Given the description of an element on the screen output the (x, y) to click on. 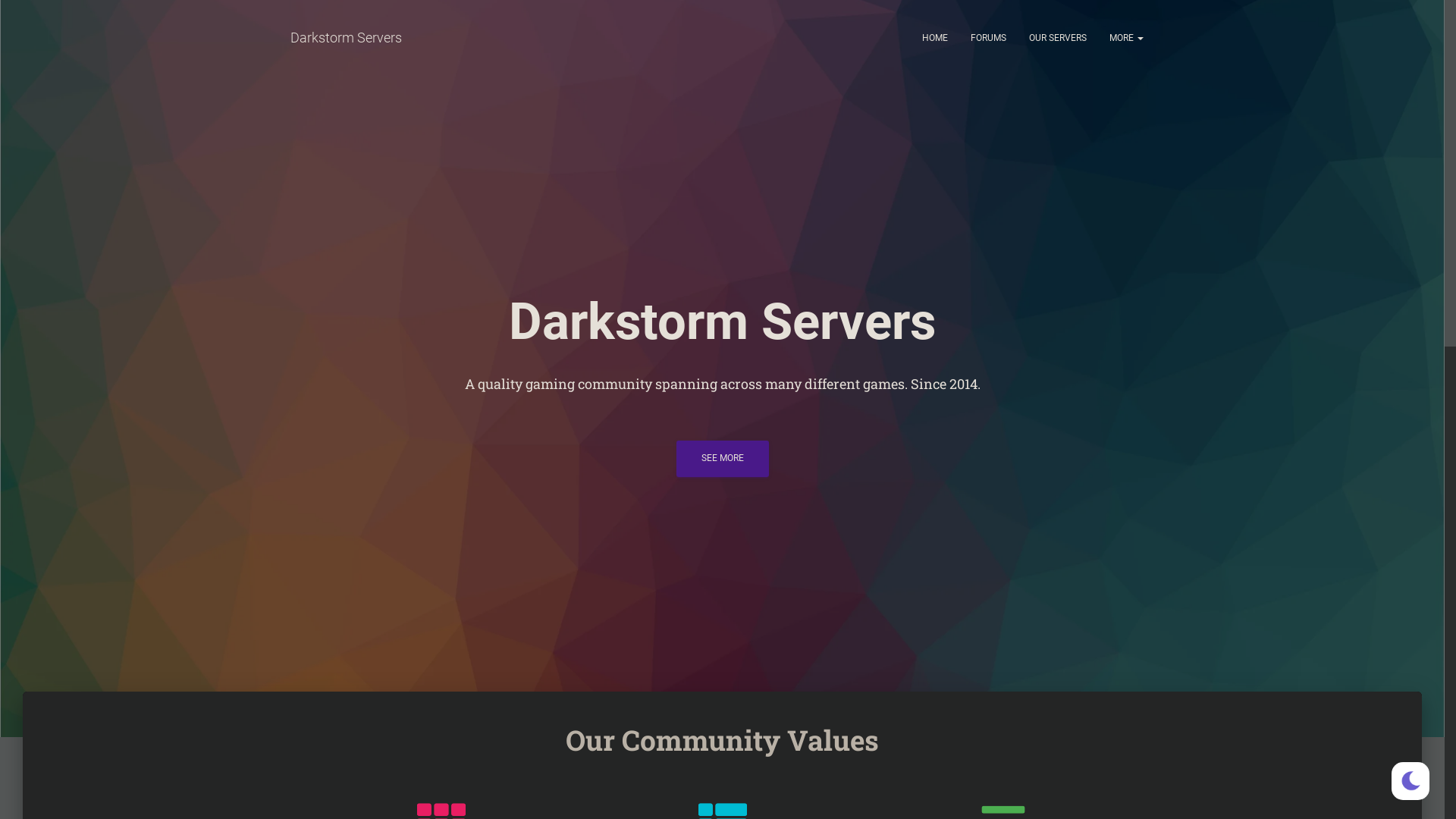
Darkstorm Servers Element type: text (346, 37)
HOME Element type: text (934, 37)
OUR SERVERS Element type: text (1057, 37)
SEE MORE Element type: text (722, 458)
FORUMS Element type: text (987, 37)
MORE Element type: text (1126, 37)
